Given the description of an element on the screen output the (x, y) to click on. 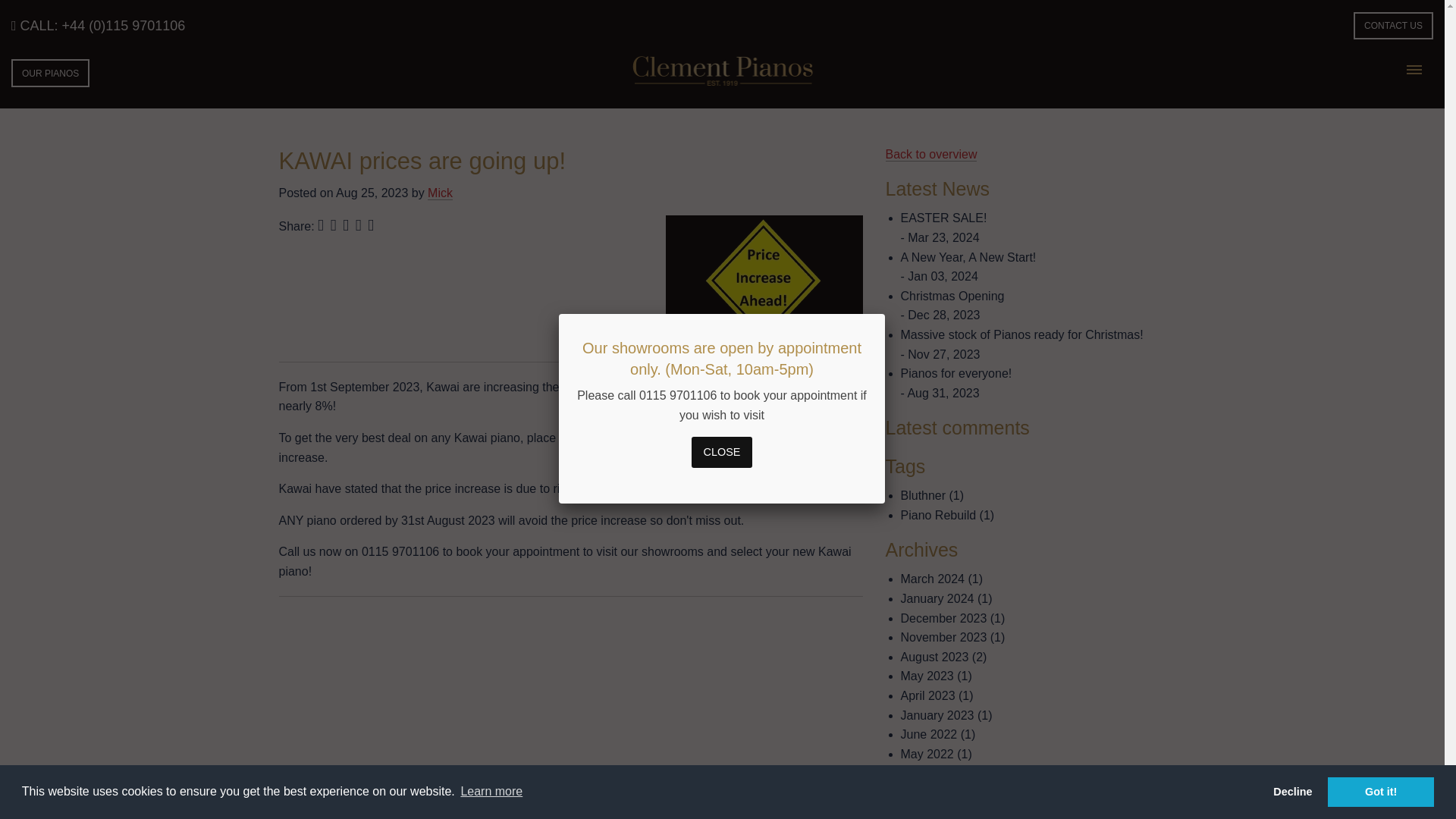
January 2023 (937, 715)
News (413, 815)
January 2024 (937, 598)
November 2023 (944, 636)
Piano Makers (483, 815)
Grand Pianos (579, 815)
May 2023 (927, 675)
About Clement Pianos (366, 815)
December 2023 (944, 617)
June 2022 (929, 734)
